Given the description of an element on the screen output the (x, y) to click on. 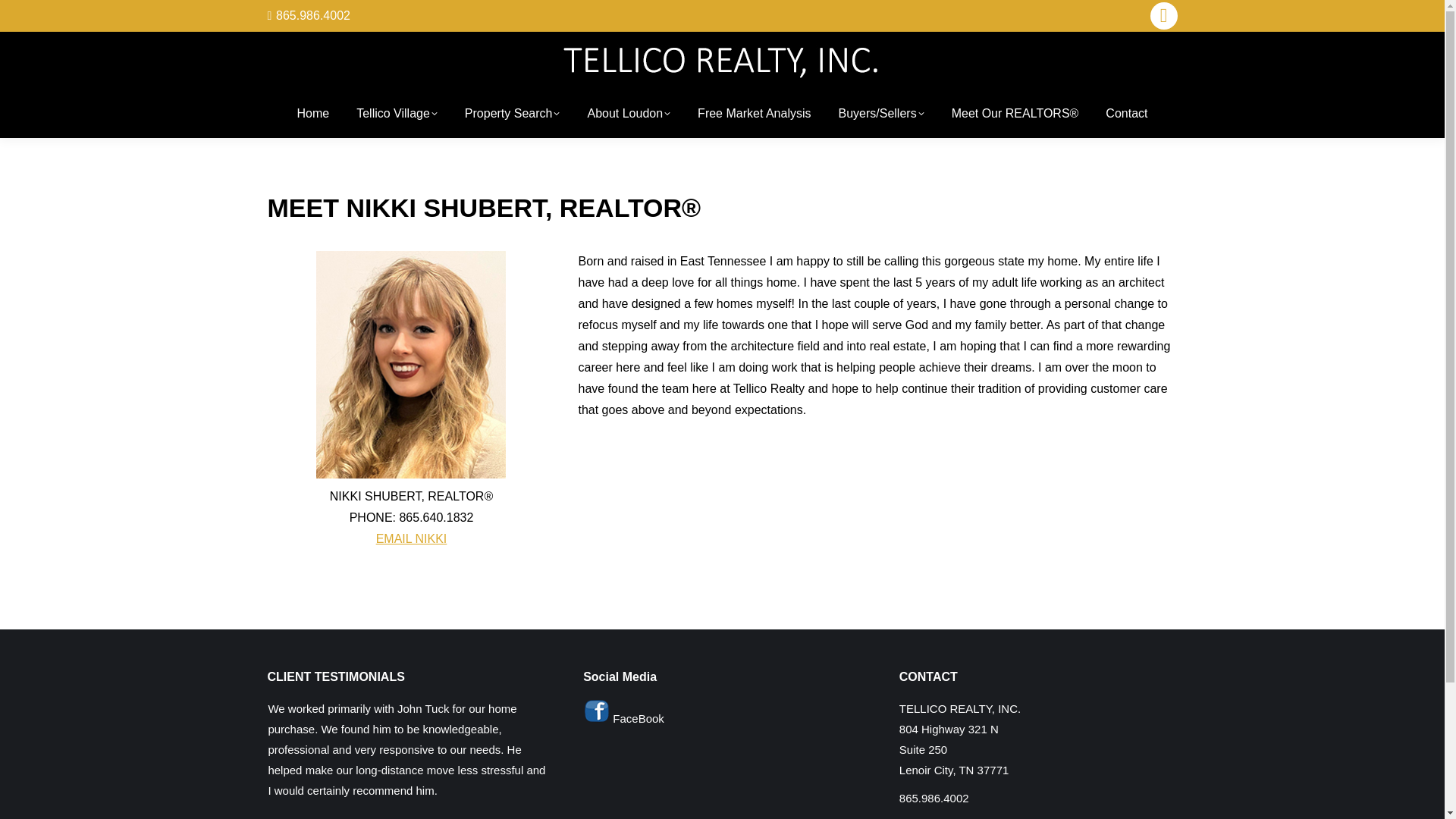
Contact (1126, 113)
Facebook page opens in new window (1163, 15)
Home (313, 113)
Tellico Village (397, 113)
About Loudon (627, 113)
Facebook page opens in new window (1163, 15)
Free Market Analysis (753, 113)
Property Search (512, 113)
